Given the description of an element on the screen output the (x, y) to click on. 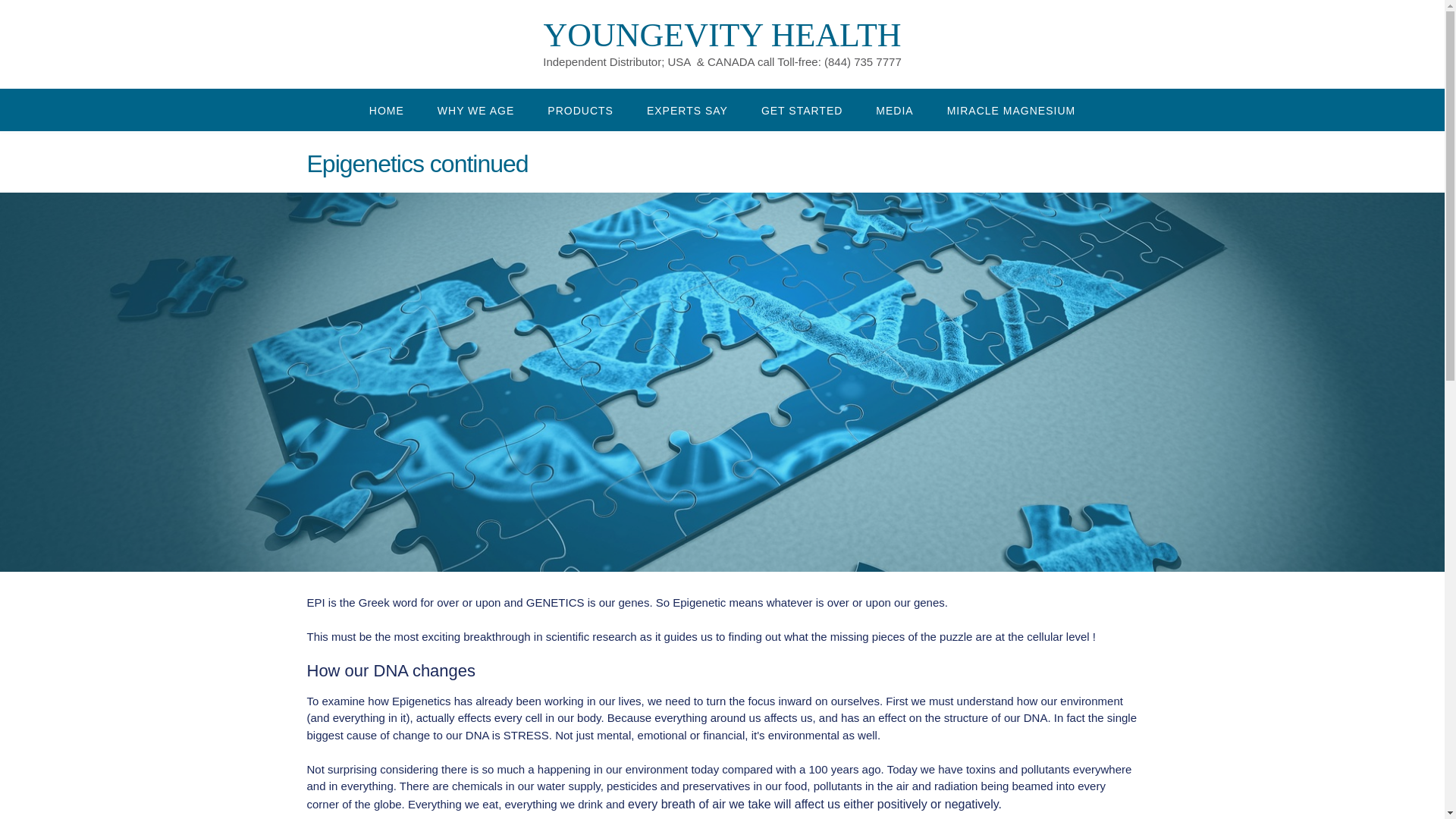
WHY WE AGE (475, 108)
EXPERTS SAY (687, 108)
YOUNGEVITY HEALTH (722, 35)
HOME (386, 108)
MIRACLE MAGNESIUM (1011, 108)
YOUNGEVITY HEALTH (722, 35)
PRODUCTS (580, 108)
MEDIA (894, 108)
GET STARTED (801, 108)
